Given the description of an element on the screen output the (x, y) to click on. 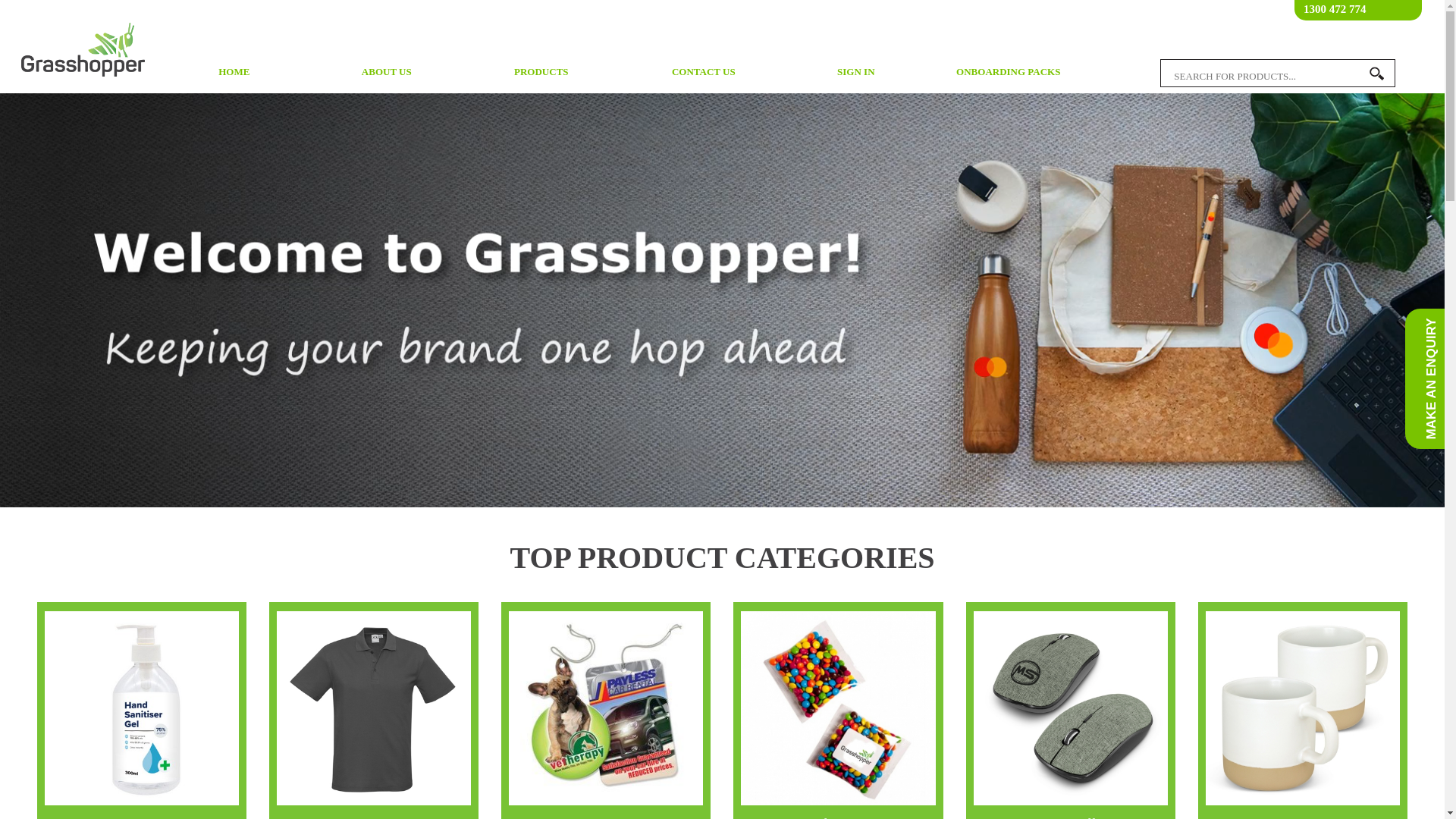
PRODUCTS Element type: text (545, 71)
HOME Element type: text (233, 71)
SIGN IN Element type: text (855, 71)
ONBOARDING PACKS Element type: text (1007, 71)
CONTACT US Element type: text (703, 71)
1300 472 774 Element type: text (1334, 9)
ABOUT US Element type: text (386, 71)
